Given the description of an element on the screen output the (x, y) to click on. 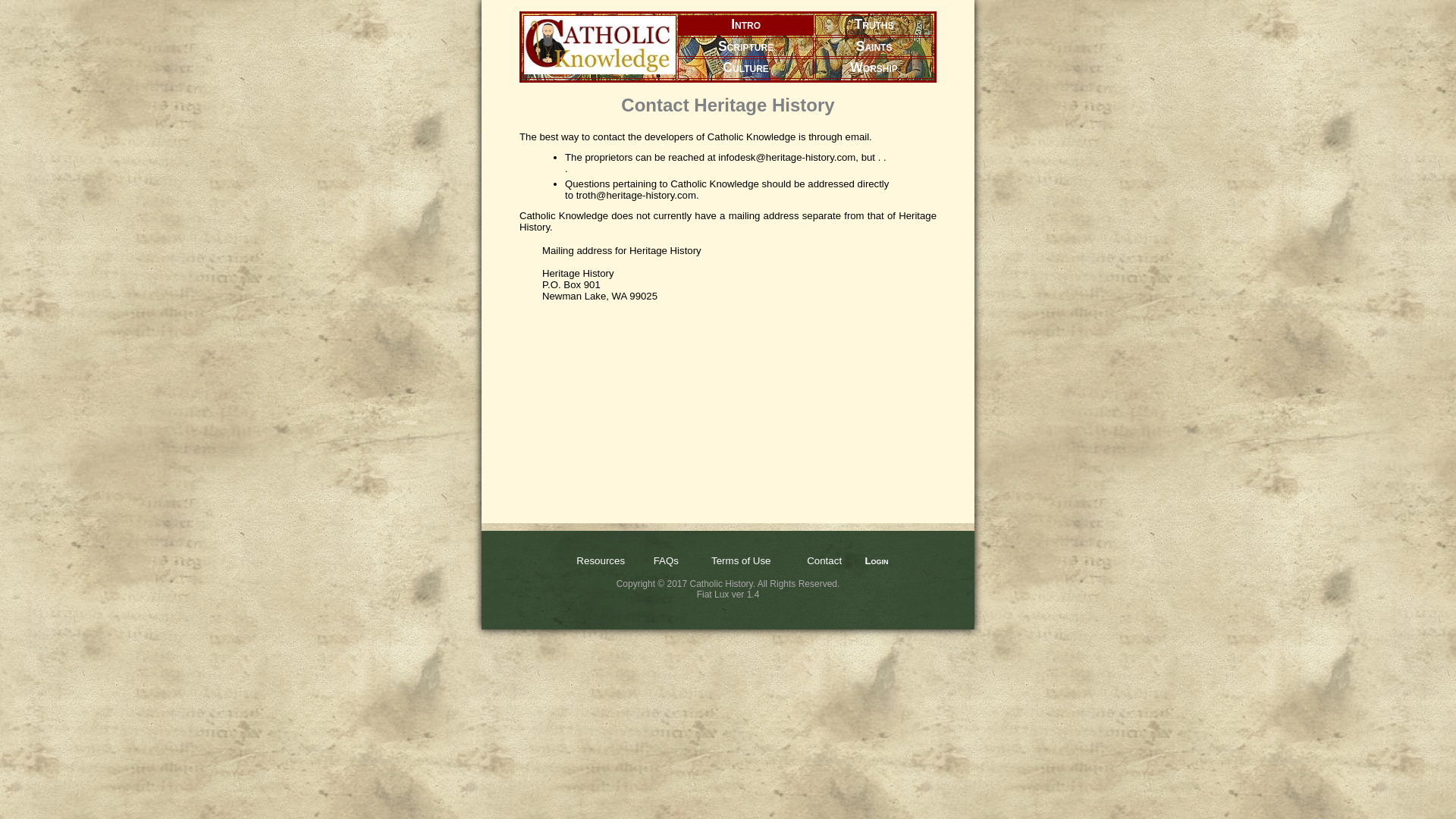
Resources (600, 560)
Worship (874, 67)
Saints (874, 46)
Terms of Use (741, 560)
Intro (745, 23)
Culture (745, 67)
Login (876, 560)
Truths (873, 23)
FAQs (665, 560)
Scripture (745, 46)
